Given the description of an element on the screen output the (x, y) to click on. 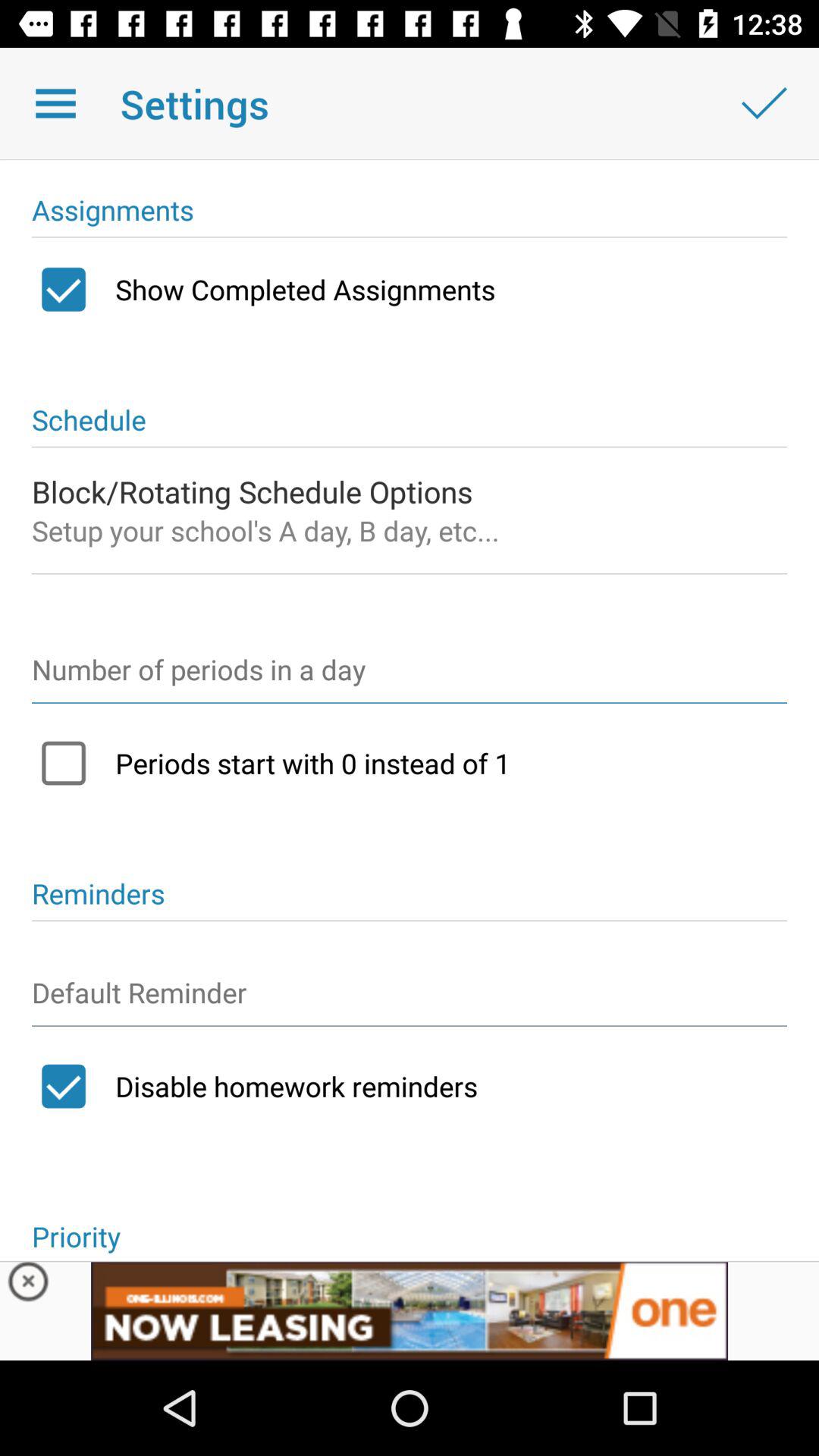
toggle a menu (55, 103)
